Given the description of an element on the screen output the (x, y) to click on. 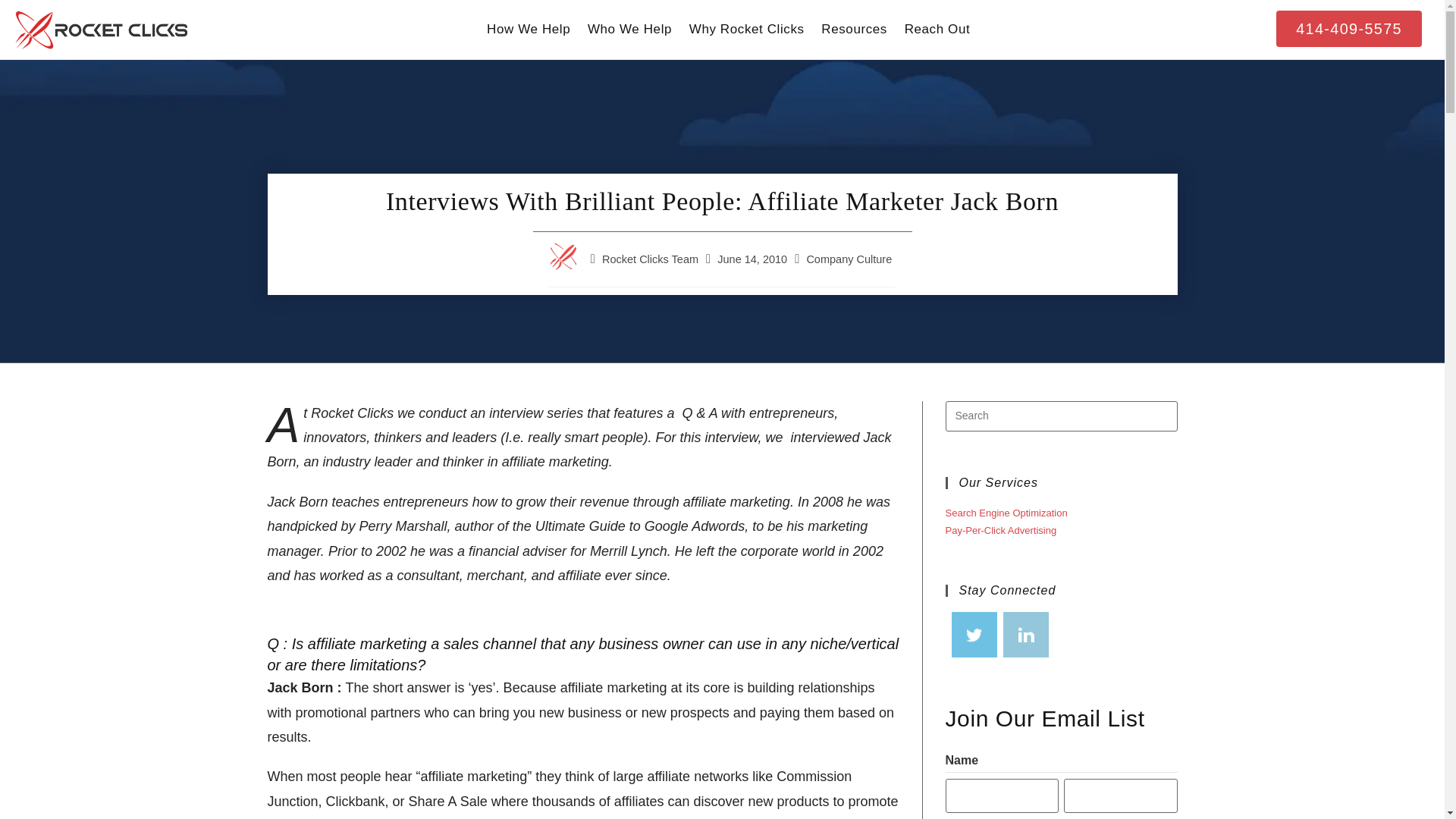
414-409-5575 (1349, 28)
Who We Help (630, 29)
Resources (853, 29)
Why Rocket Clicks (745, 29)
How We Help (529, 29)
Reach Out (936, 29)
Posts by Rocket Clicks Team (650, 259)
